Given the description of an element on the screen output the (x, y) to click on. 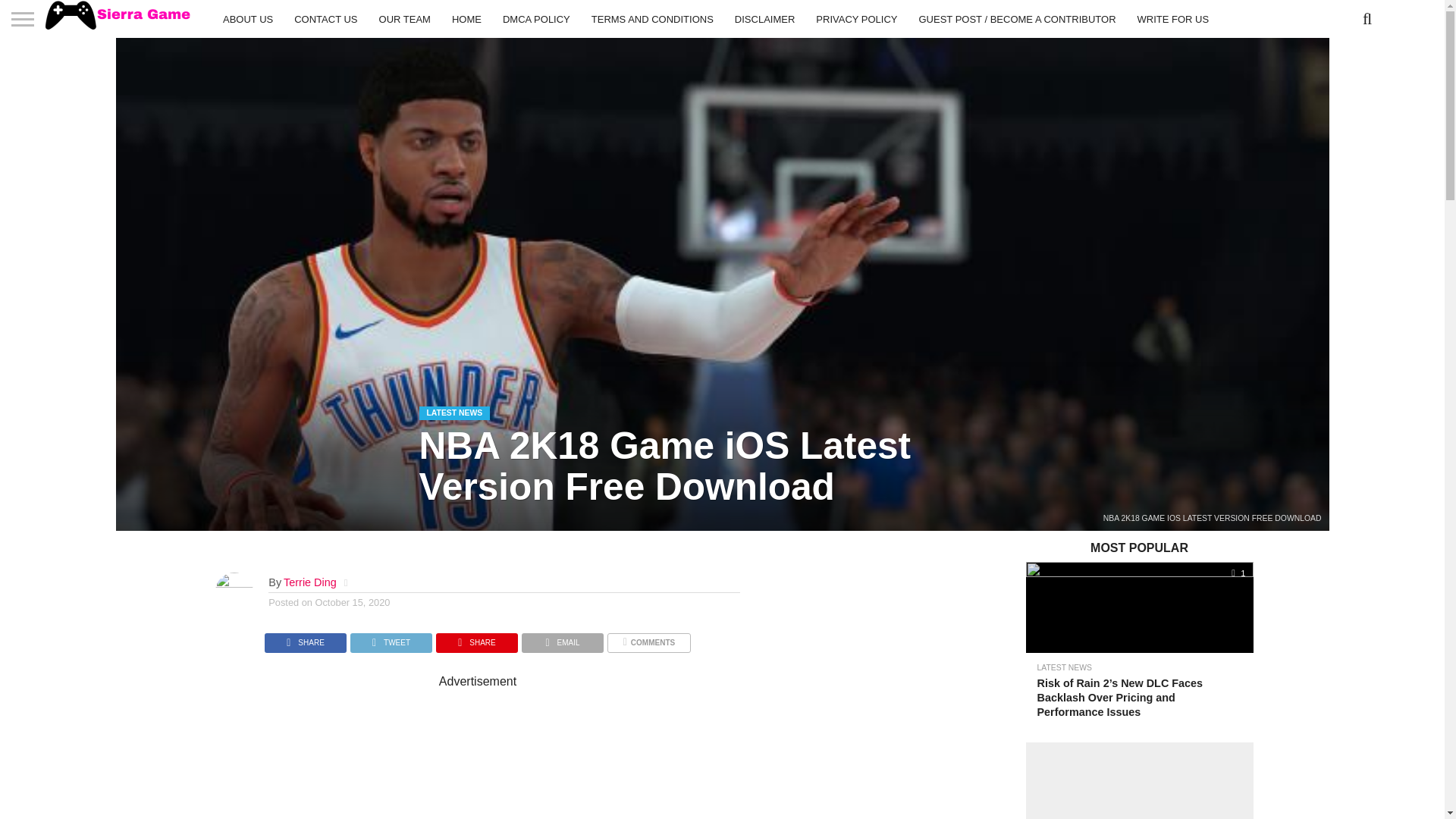
Terrie Ding (309, 582)
CONTACT US (325, 18)
SHARE (476, 638)
COMMENTS (648, 638)
ABOUT US (247, 18)
Advertisement (602, 753)
Pin This Post (476, 638)
WRITE FOR US (1173, 18)
TWEET (390, 638)
EMAIL (562, 638)
